Given the description of an element on the screen output the (x, y) to click on. 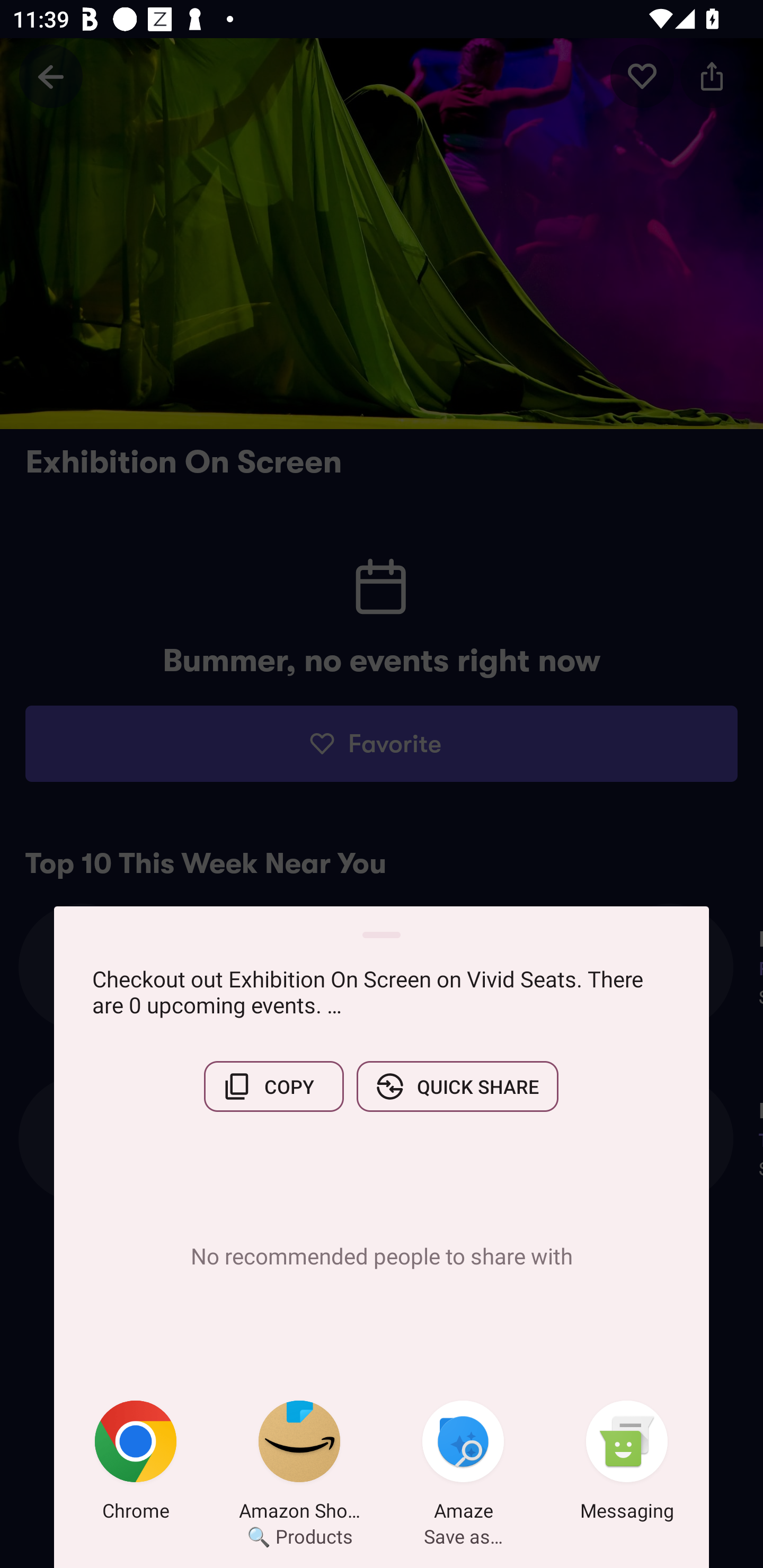
COPY (273, 1086)
QUICK SHARE (457, 1086)
Chrome (135, 1463)
Amazon Shopping 🔍 Products (299, 1463)
Amaze Save as… (463, 1463)
Messaging (626, 1463)
